Given the description of an element on the screen output the (x, y) to click on. 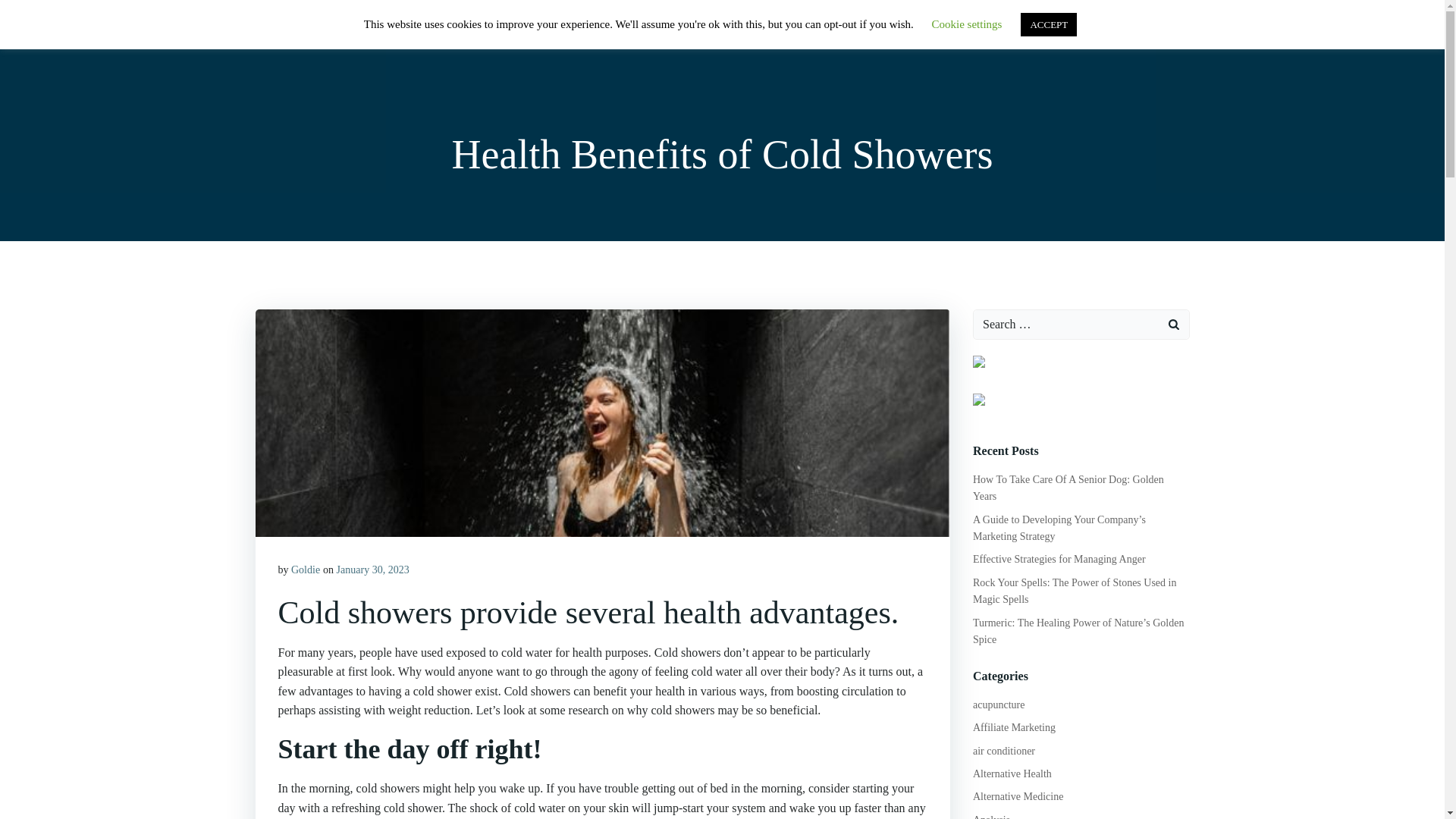
air conditioner (1003, 750)
Effective Strategies for Managing Anger (1058, 559)
January 30, 2023 (372, 569)
Alternative Medicine (1017, 796)
Alternative Health (1011, 773)
Goldie (305, 569)
acupuncture (998, 704)
Search  (29, 14)
PUB-NET (292, 33)
HOME (795, 33)
Affiliate Marketing (1013, 727)
LEGAL (1155, 33)
ARTICLES (929, 33)
Rock Your Spells: The Power of Stones Used in Magic Spells (1074, 591)
SHOP (858, 33)
